Given the description of an element on the screen output the (x, y) to click on. 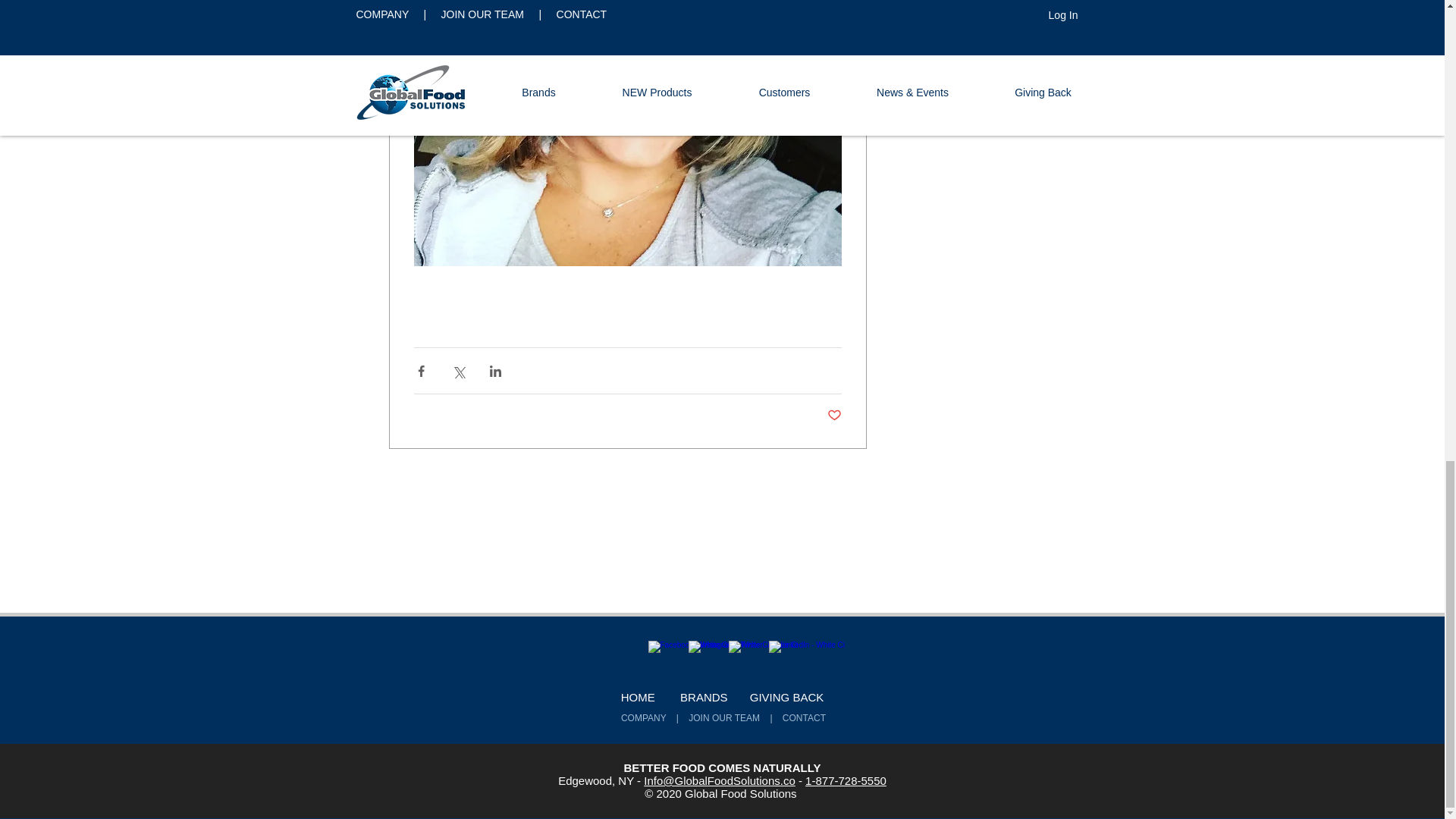
GIVING BACK (786, 697)
HOME (638, 697)
COMPANY    (649, 717)
CONTACT    (806, 717)
BRANDS        (714, 697)
Post not marked as liked (834, 415)
JOIN OUR TEAM  (723, 717)
